Given the description of an element on the screen output the (x, y) to click on. 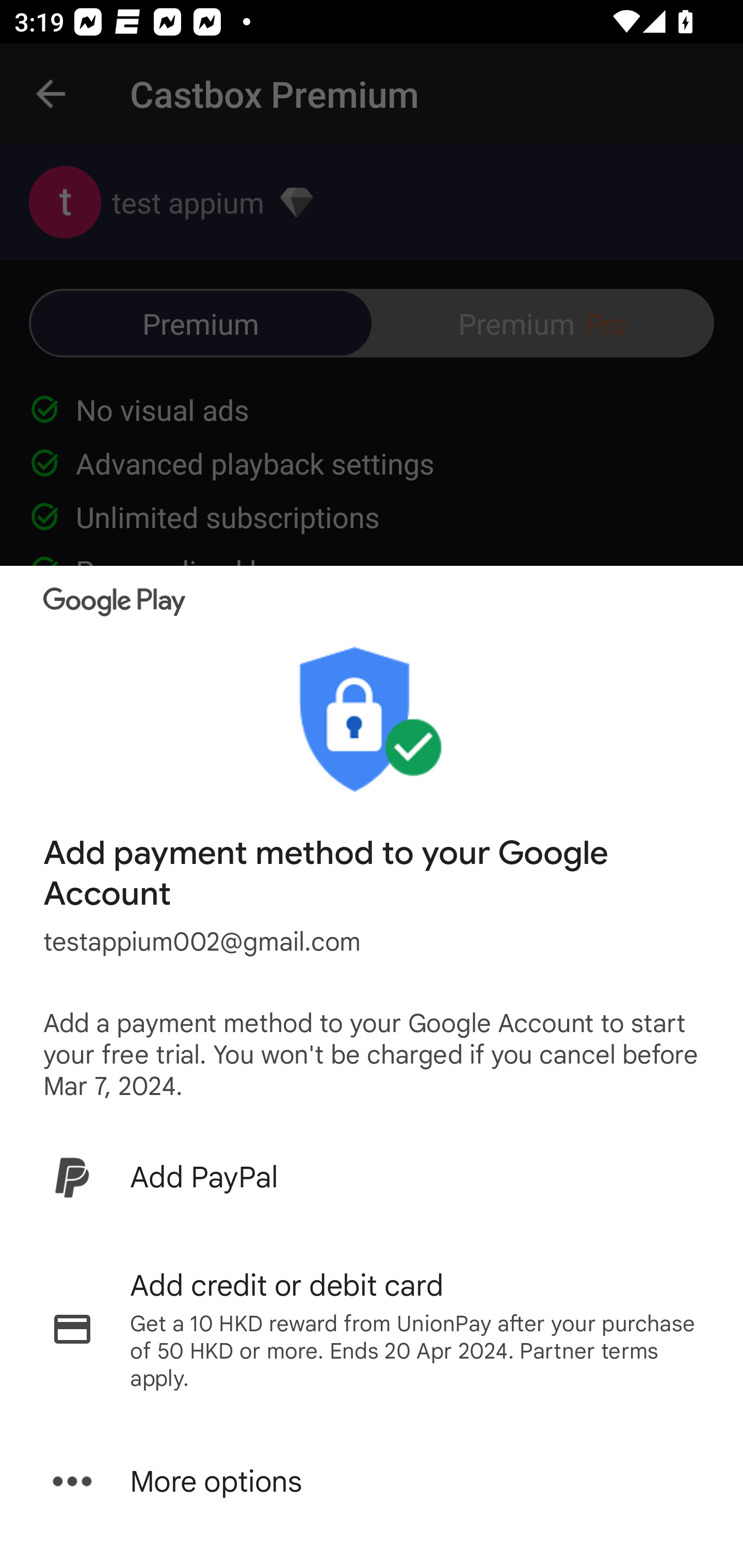
Add PayPal (371, 1177)
More options (371, 1481)
